Given the description of an element on the screen output the (x, y) to click on. 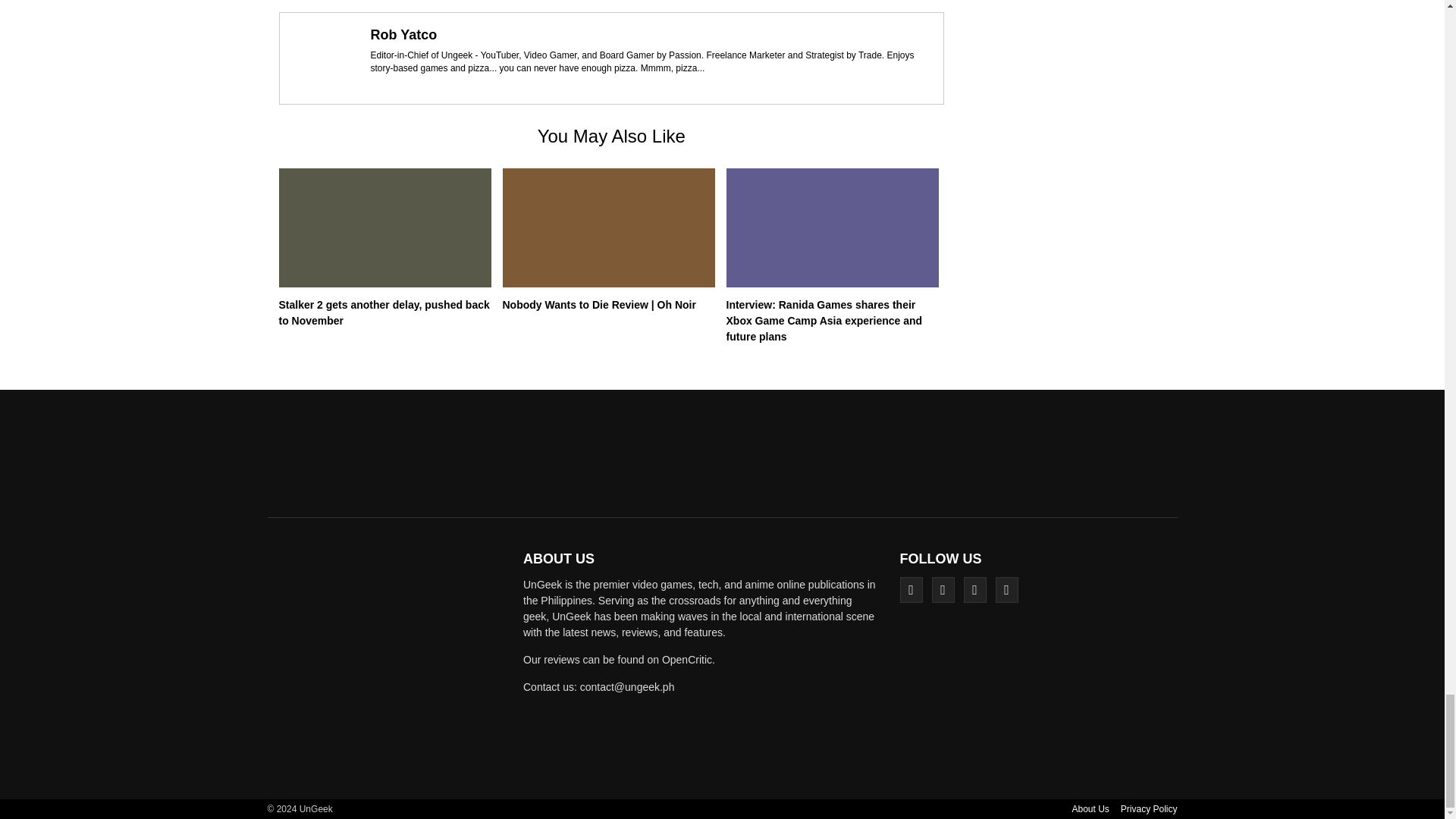
UnGeek (389, 662)
